Given the description of an element on the screen output the (x, y) to click on. 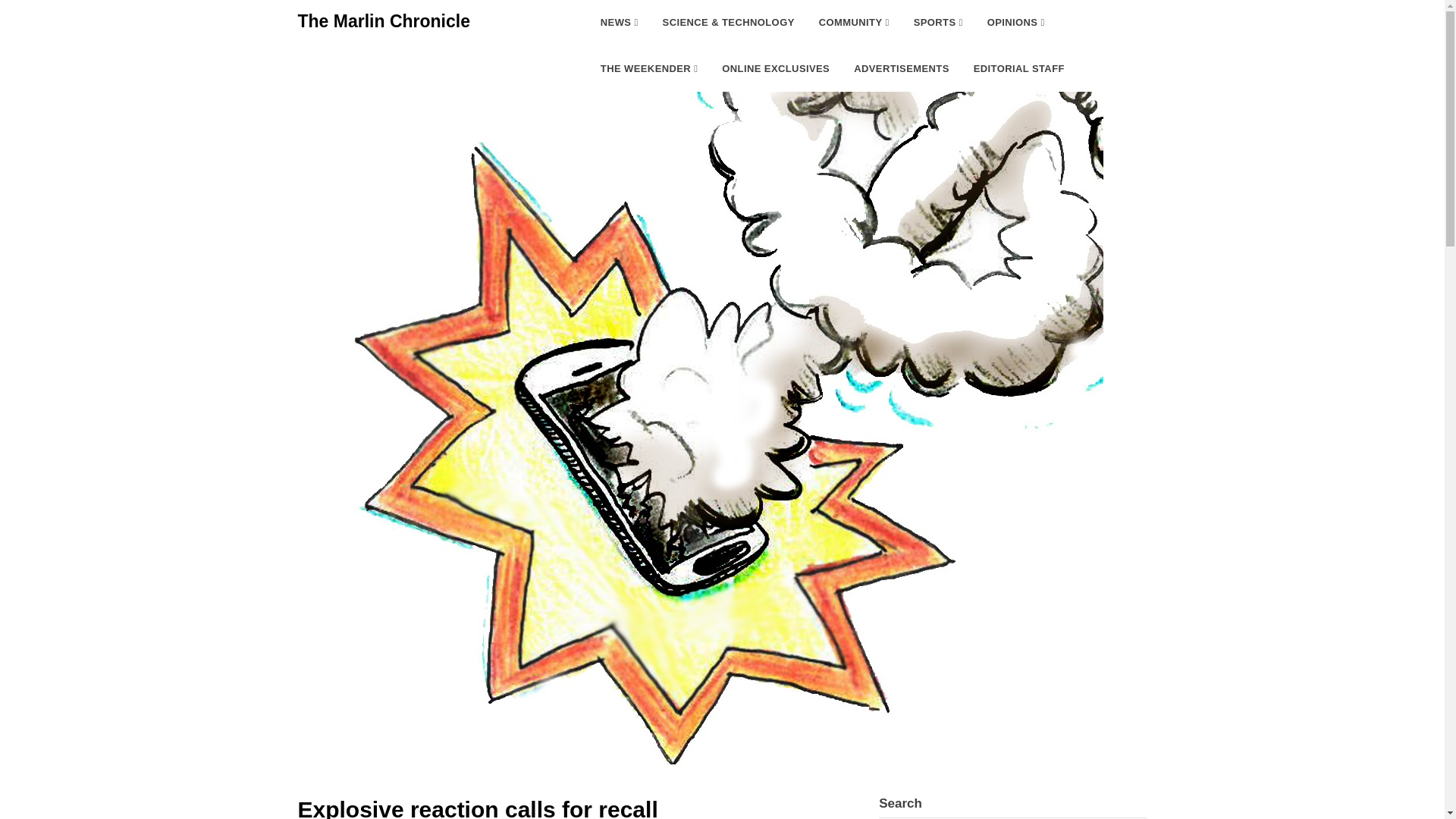
EDITORIAL STAFF (1018, 67)
OPINIONS (1016, 22)
SPORTS (938, 22)
ADVERTISEMENTS (900, 67)
COMMUNITY (853, 22)
The Marlin Chronicle (382, 21)
THE WEEKENDER (649, 67)
NEWS (619, 22)
ONLINE EXCLUSIVES (775, 67)
